Given the description of an element on the screen output the (x, y) to click on. 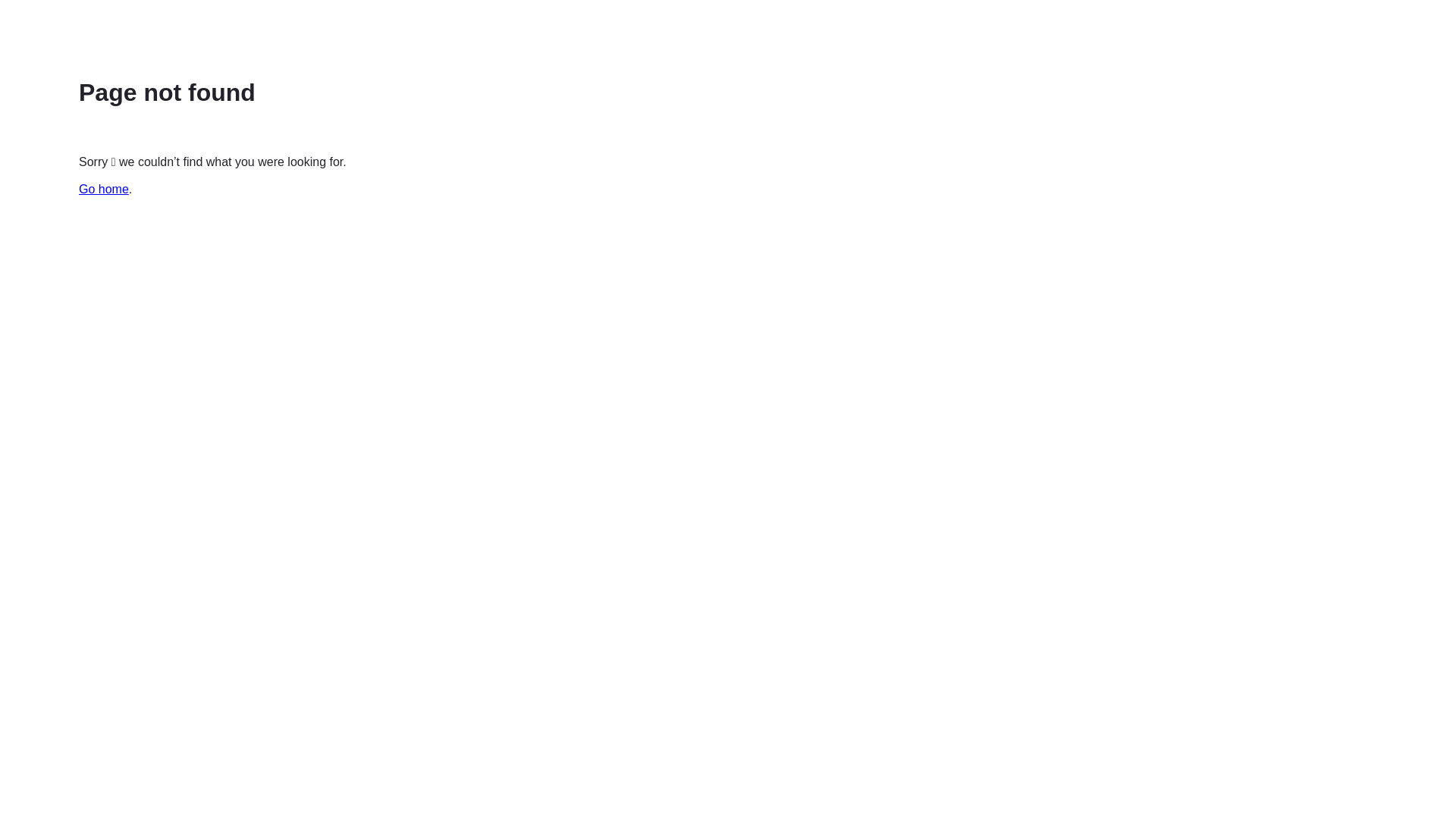
Go home Element type: text (103, 188)
